Given the description of an element on the screen output the (x, y) to click on. 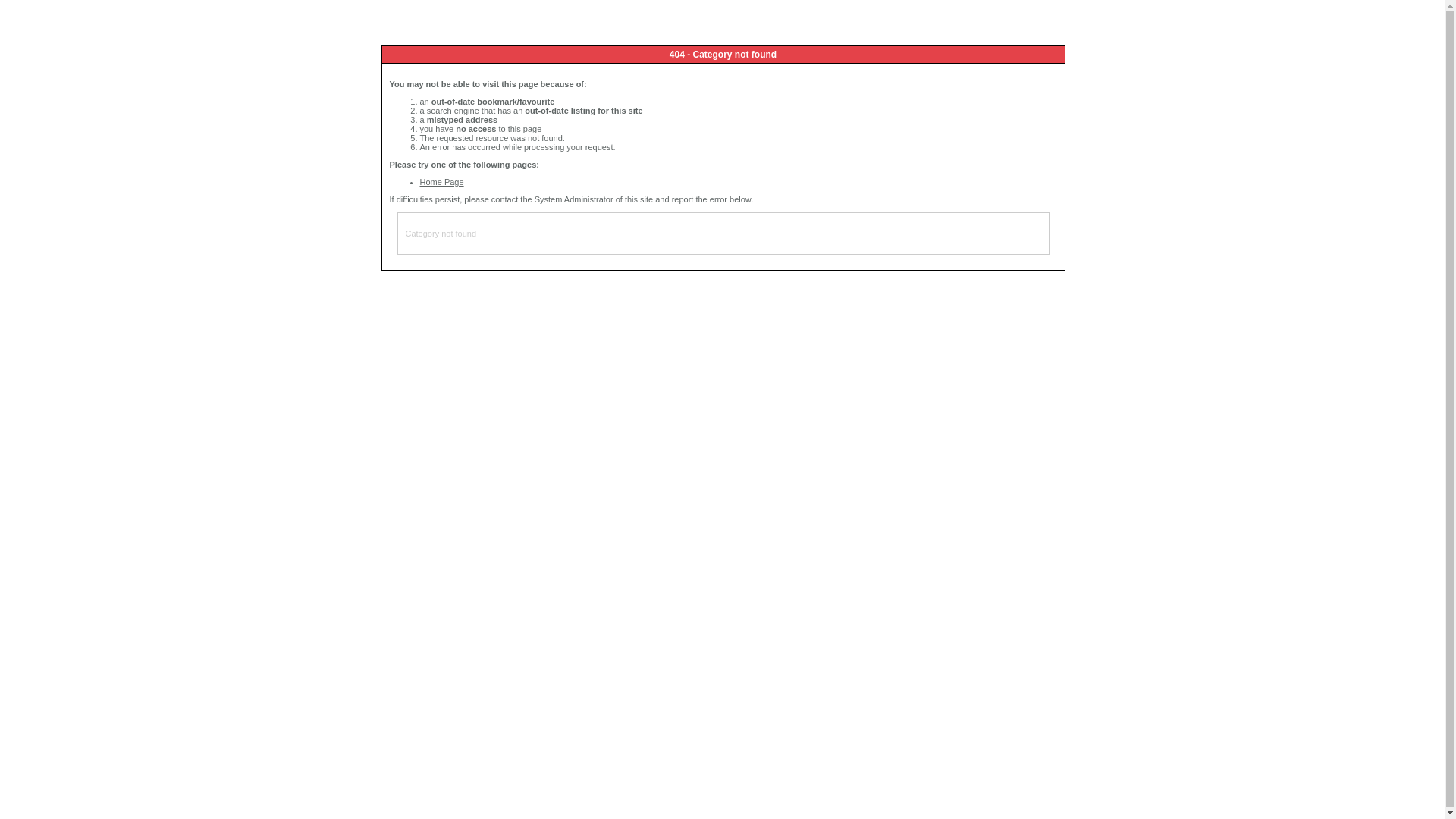
Home Page Element type: text (442, 181)
